Given the description of an element on the screen output the (x, y) to click on. 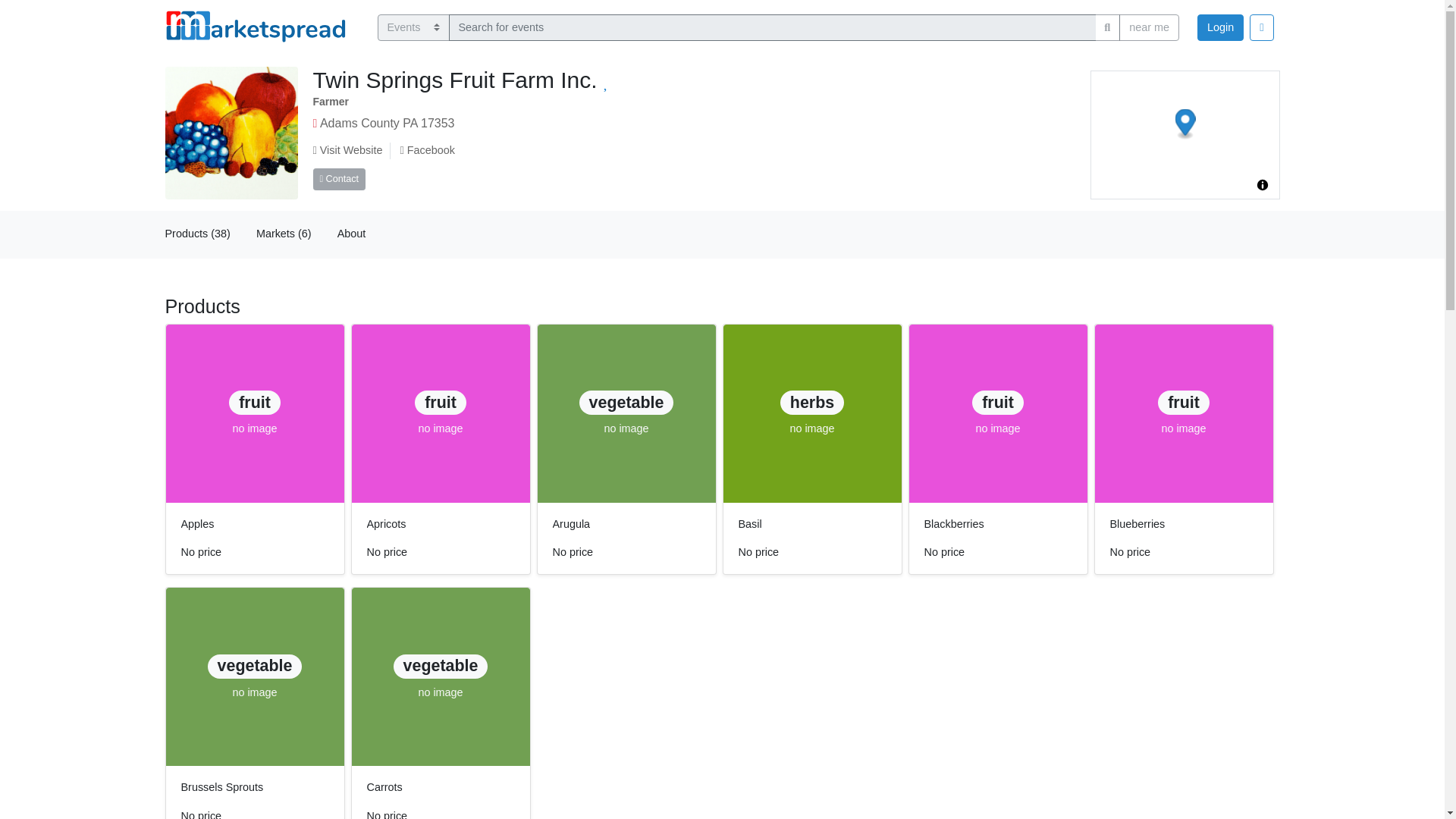
Visit Website (347, 150)
Login (1219, 27)
Contact (339, 179)
Toggle attribution (1261, 185)
near me (1149, 27)
Facebook (426, 150)
